Given the description of an element on the screen output the (x, y) to click on. 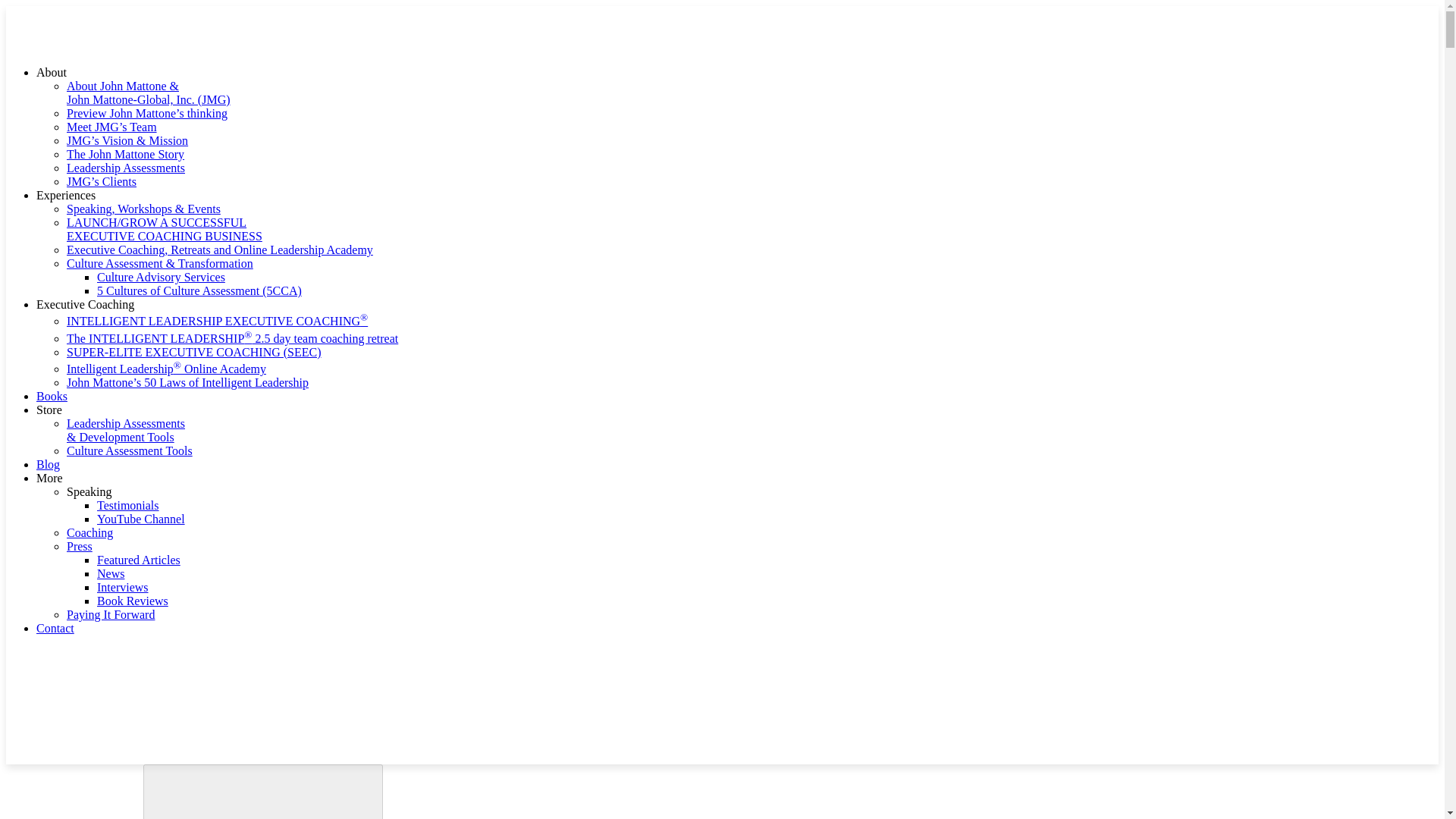
Culture Assessment Tools (129, 450)
Featured Articles (138, 559)
Book Reviews (132, 600)
Press (79, 545)
Books (51, 395)
Culture Advisory Services (161, 277)
Speaking (89, 491)
Paying It Forward (110, 614)
YouTube Channel (140, 518)
Blog (47, 463)
The John Mattone Story (125, 154)
More (49, 477)
Contact (55, 627)
Leadership Assessments (125, 167)
Executive Coaching (84, 304)
